Given the description of an element on the screen output the (x, y) to click on. 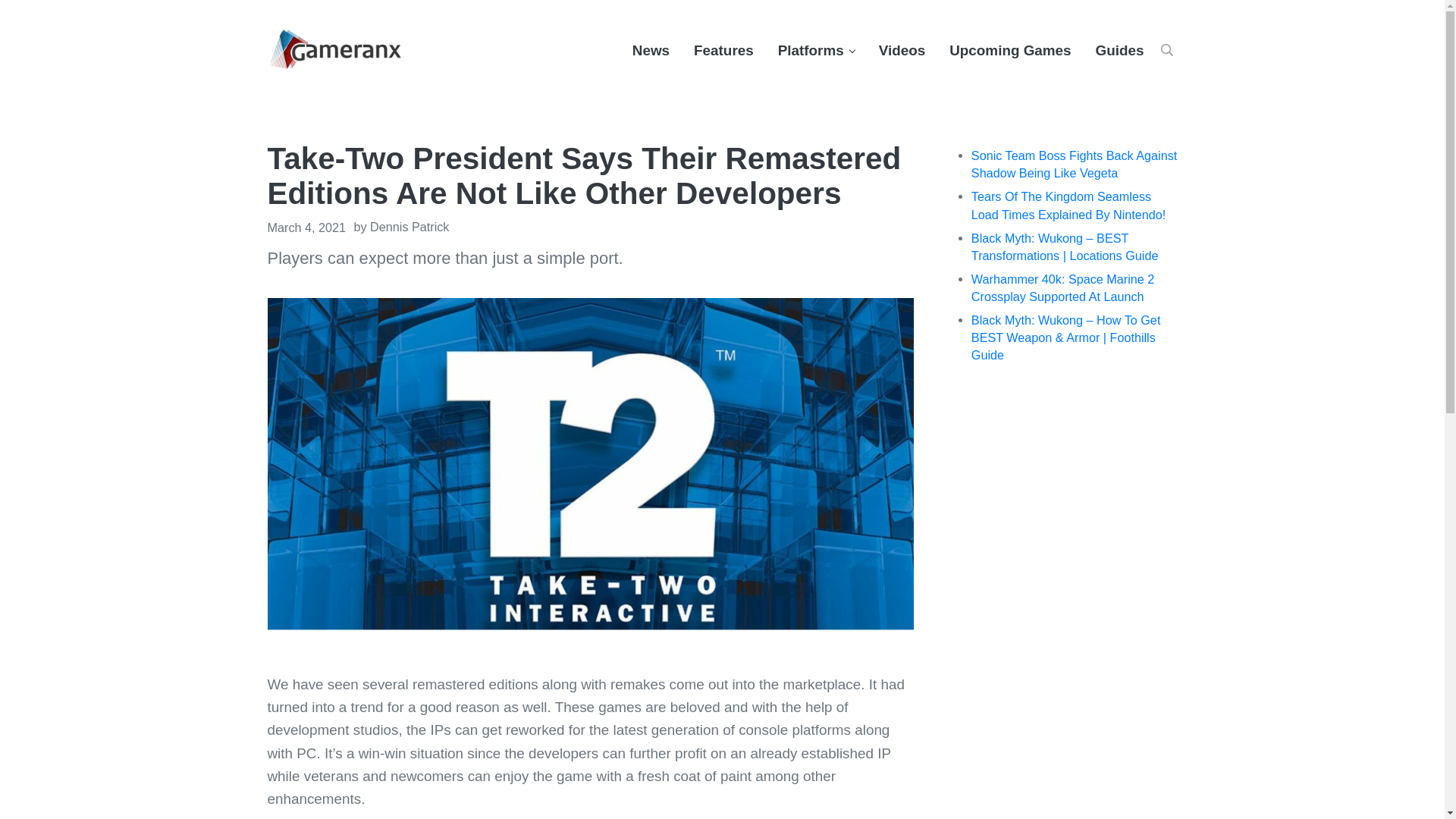
Dennis Patrick (408, 226)
Sonic Team Boss Fights Back Against Shadow Being Like Vegeta (1073, 163)
Warhammer 40k: Space Marine 2 Crossplay Supported At Launch (1062, 287)
Videos (901, 50)
Guides (1119, 50)
Upcoming Games (1010, 50)
News (650, 50)
Features (723, 50)
